Given the description of an element on the screen output the (x, y) to click on. 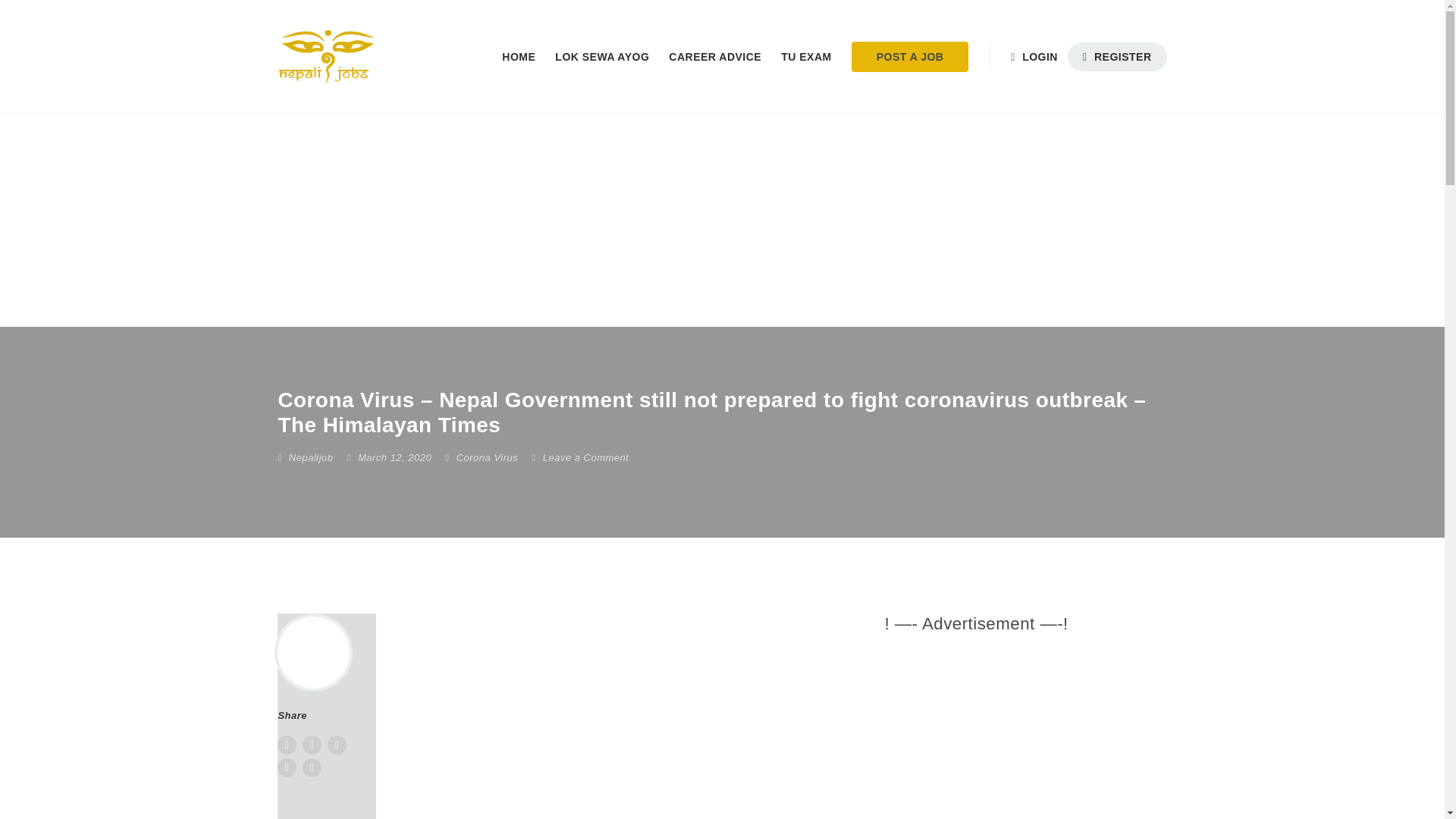
CAREER ADVICE (715, 56)
 REGISTER (1117, 56)
Nepalijob (310, 457)
Posts by Nepalijob (310, 457)
POST A JOB (910, 56)
Corona Virus (487, 457)
Leave a Comment (579, 457)
Advertisement (1023, 738)
LOK SEWA AYOG (601, 56)
